Given the description of an element on the screen output the (x, y) to click on. 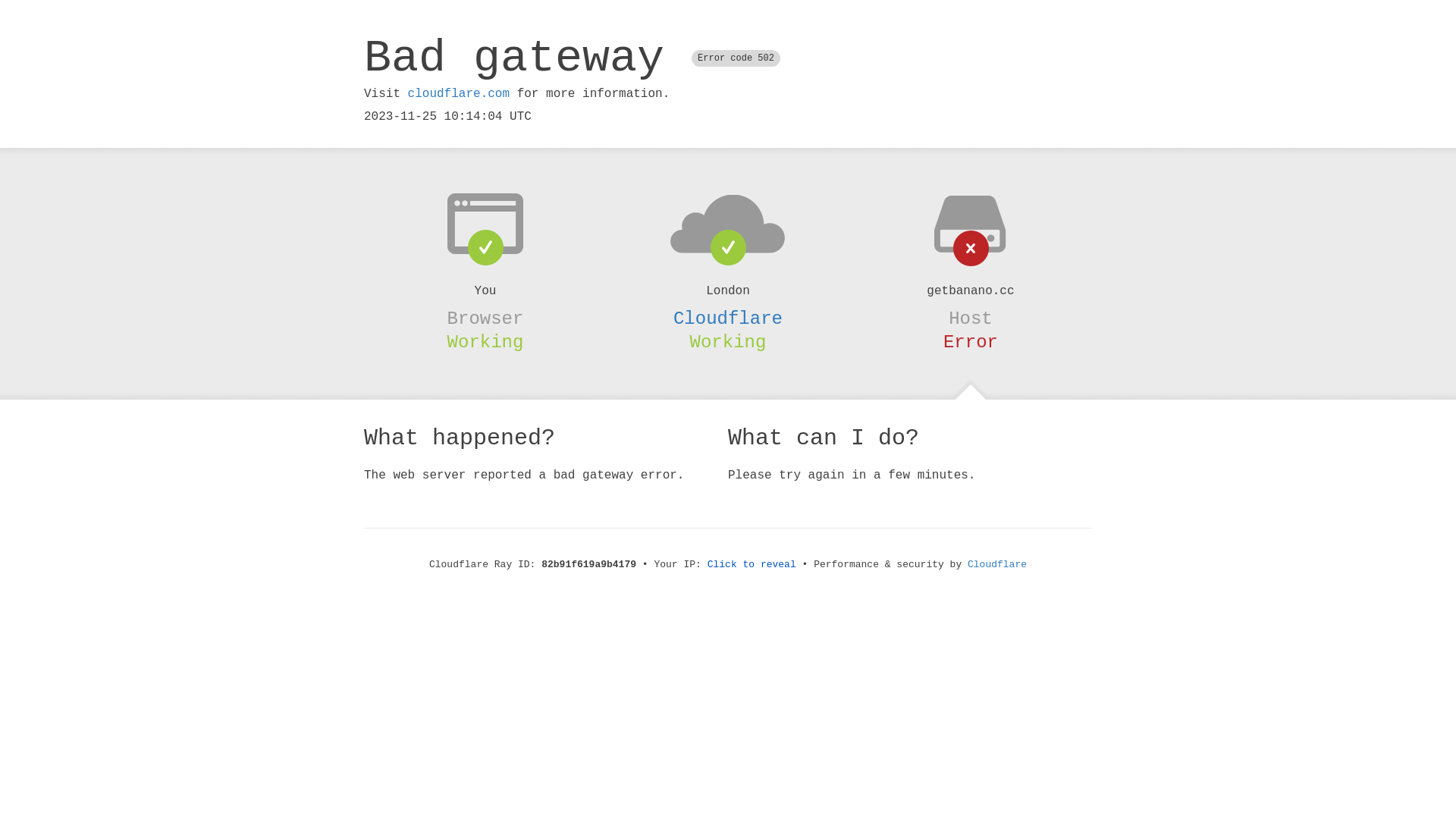
cloudflare.com Element type: text (458, 93)
Cloudflare Element type: text (727, 318)
Click to reveal Element type: text (751, 564)
Cloudflare Element type: text (996, 564)
